Given the description of an element on the screen output the (x, y) to click on. 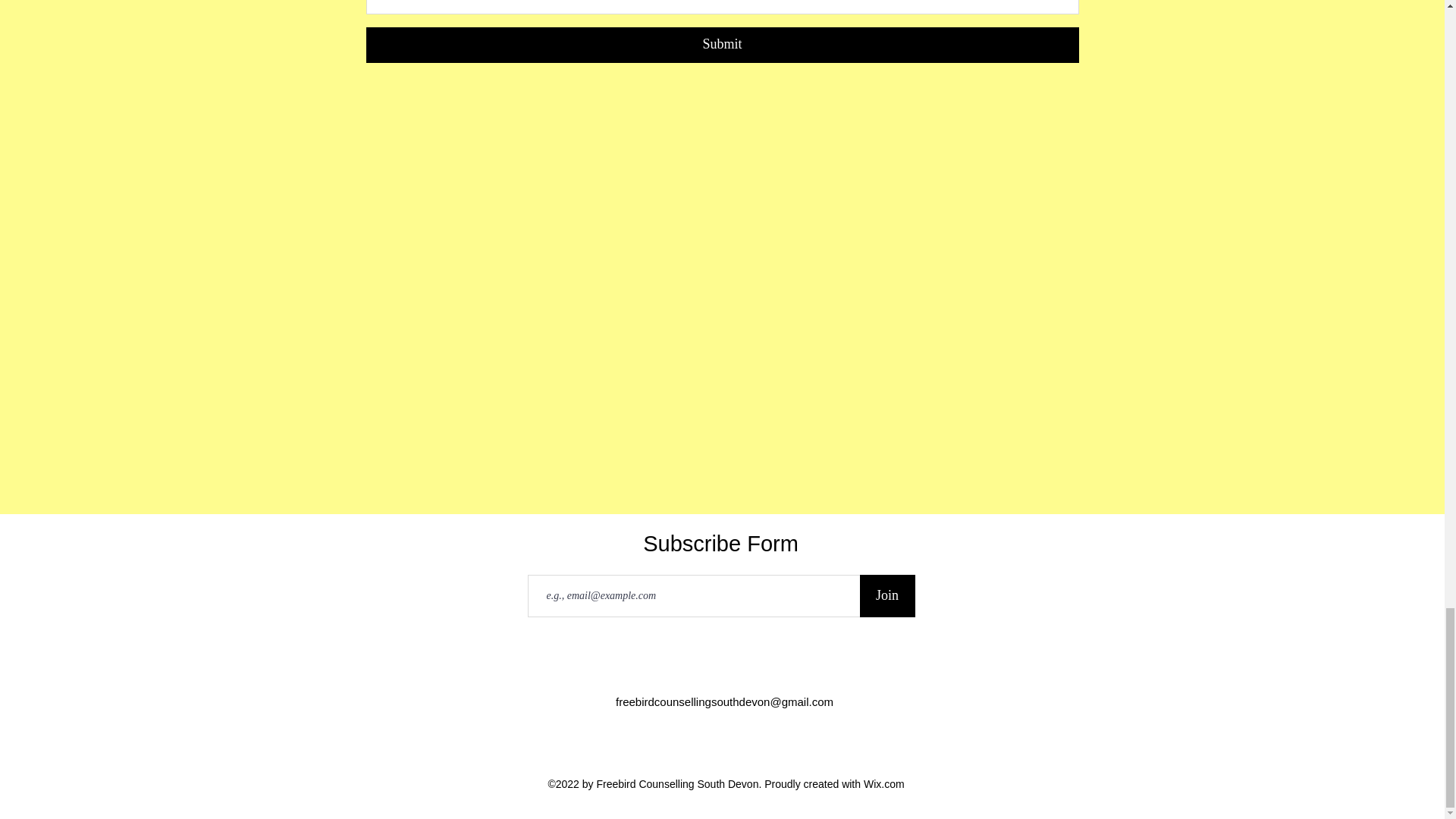
Join (887, 595)
Submit (721, 45)
